Given the description of an element on the screen output the (x, y) to click on. 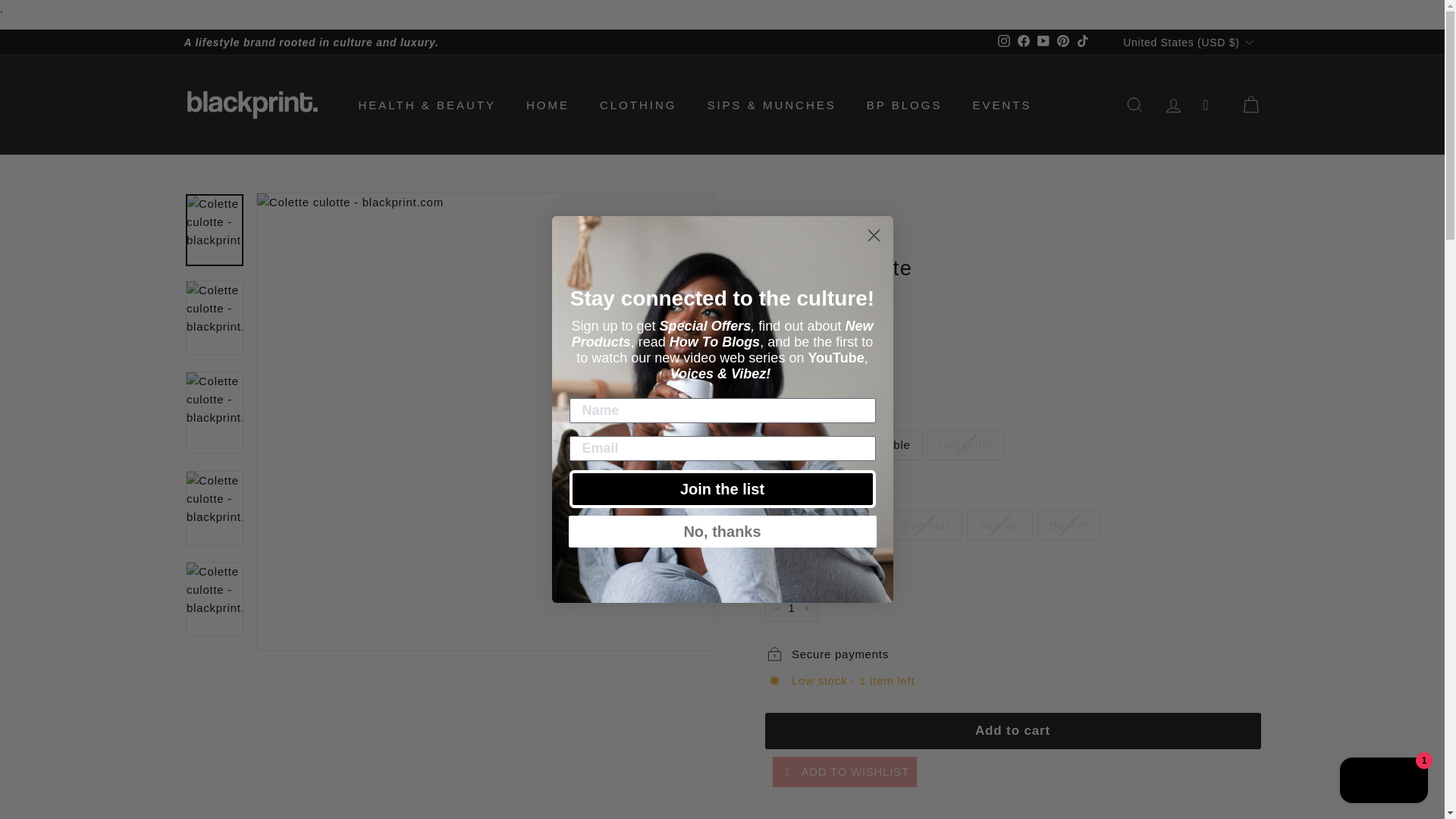
HOME (548, 104)
Msichana Inc. (802, 295)
1 (790, 607)
Back to the frontpage (778, 241)
